Given the description of an element on the screen output the (x, y) to click on. 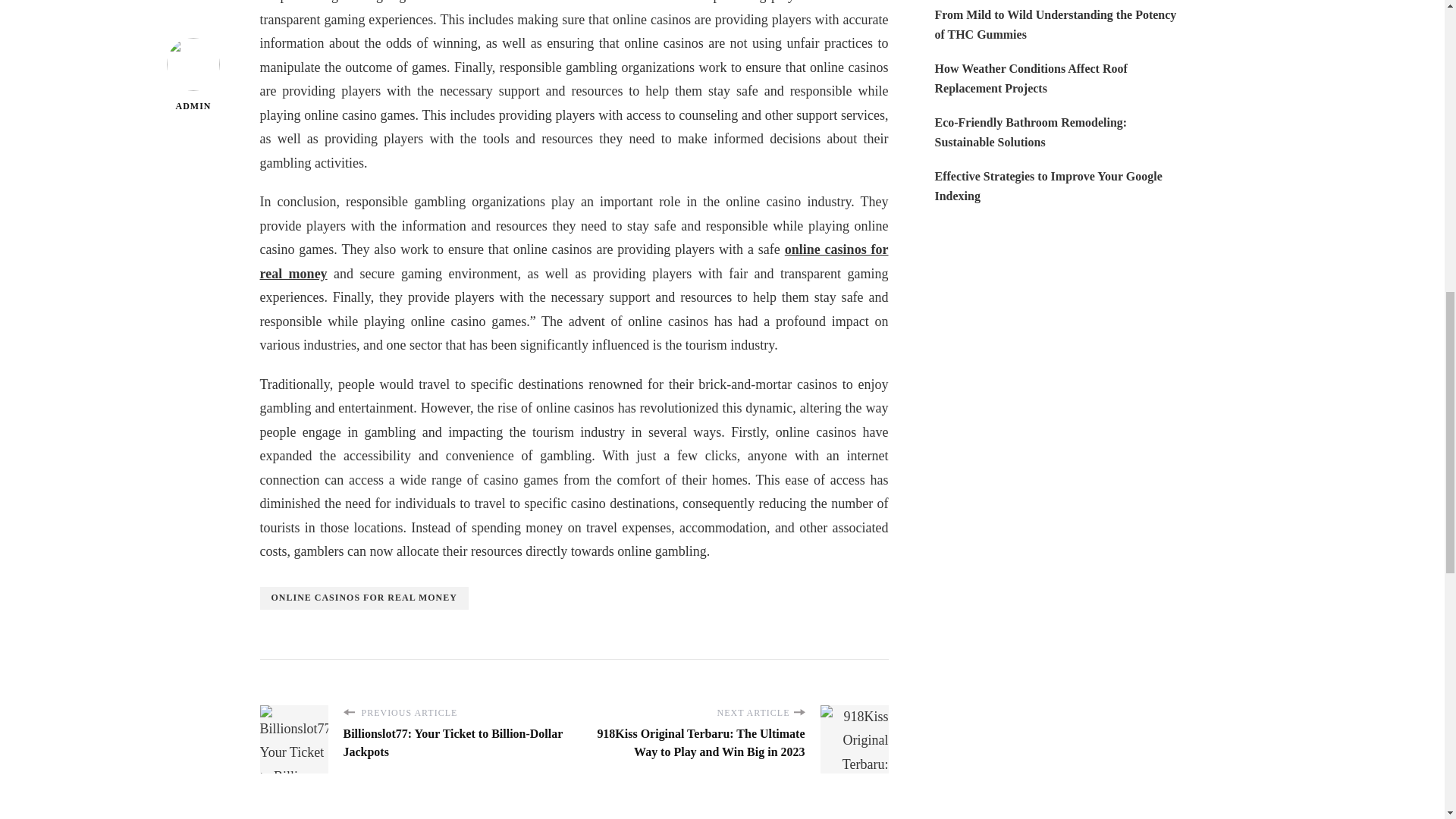
online casinos for real money (573, 261)
ADMIN (193, 30)
ONLINE CASINOS FOR REAL MONEY (363, 598)
